Given the description of an element on the screen output the (x, y) to click on. 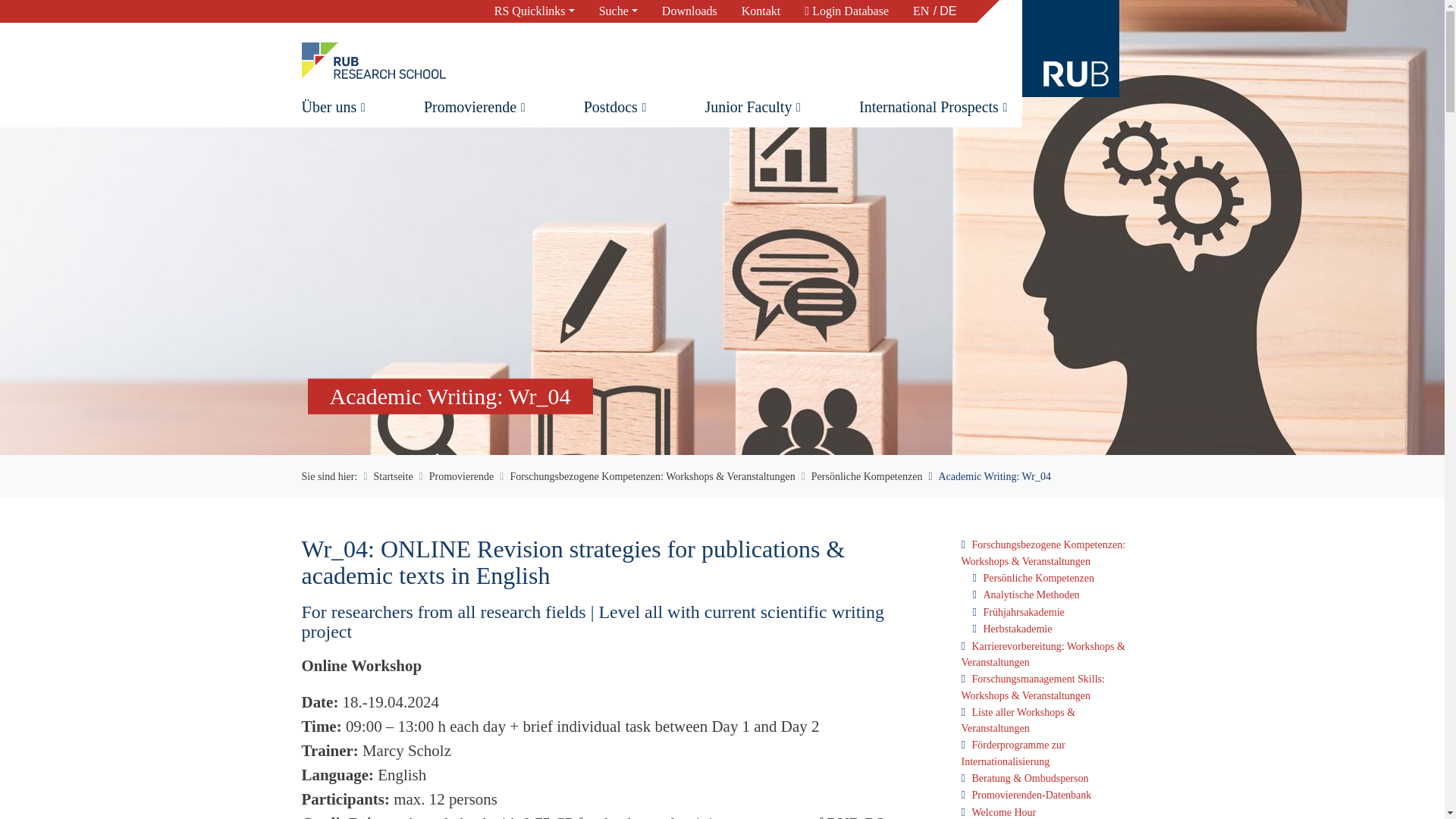
Downloads (689, 11)
Kontakt (761, 11)
Login Database (846, 11)
Promovierende (472, 106)
DE (943, 11)
